Given the description of an element on the screen output the (x, y) to click on. 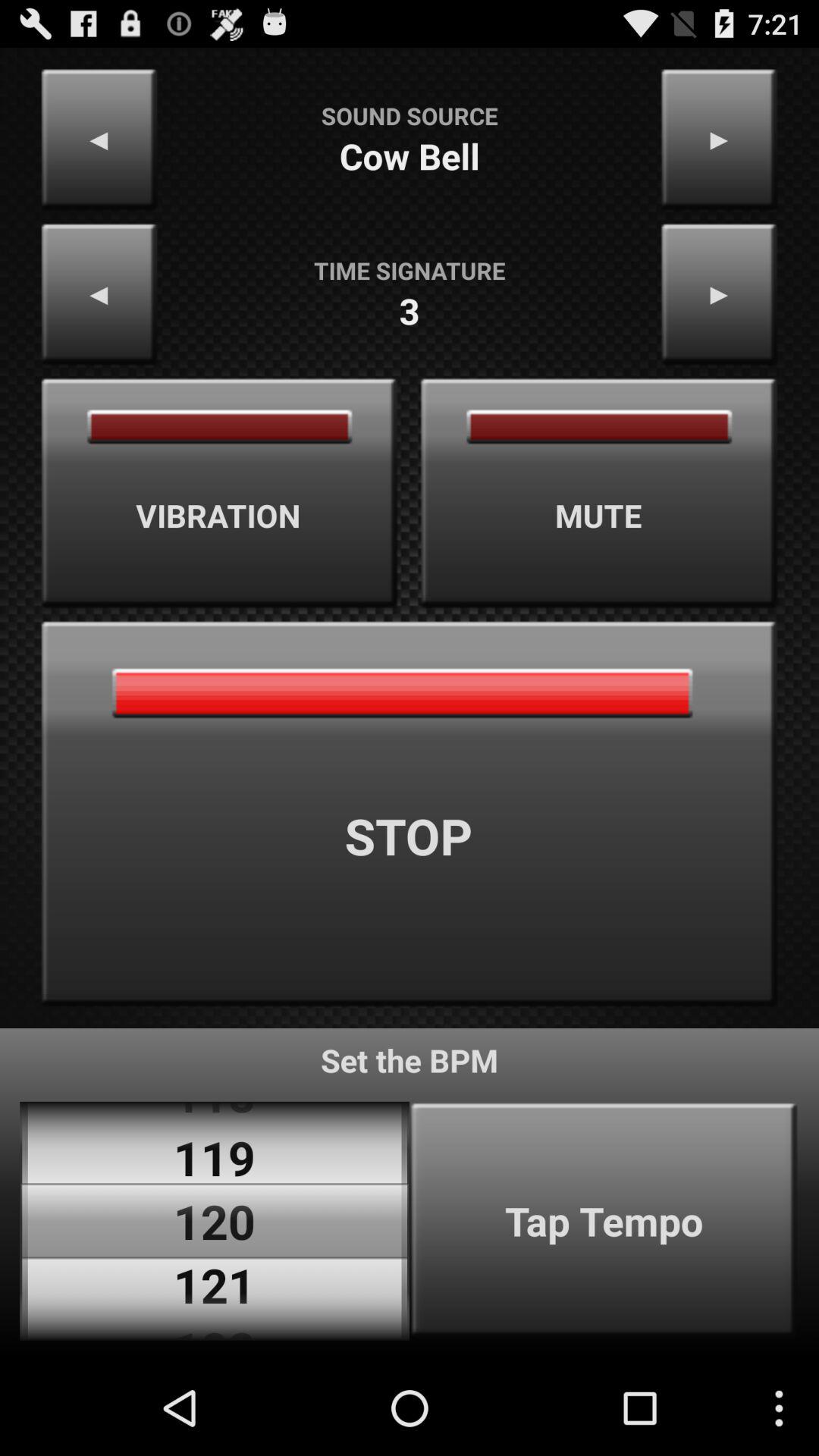
swipe until stop item (409, 813)
